Given the description of an element on the screen output the (x, y) to click on. 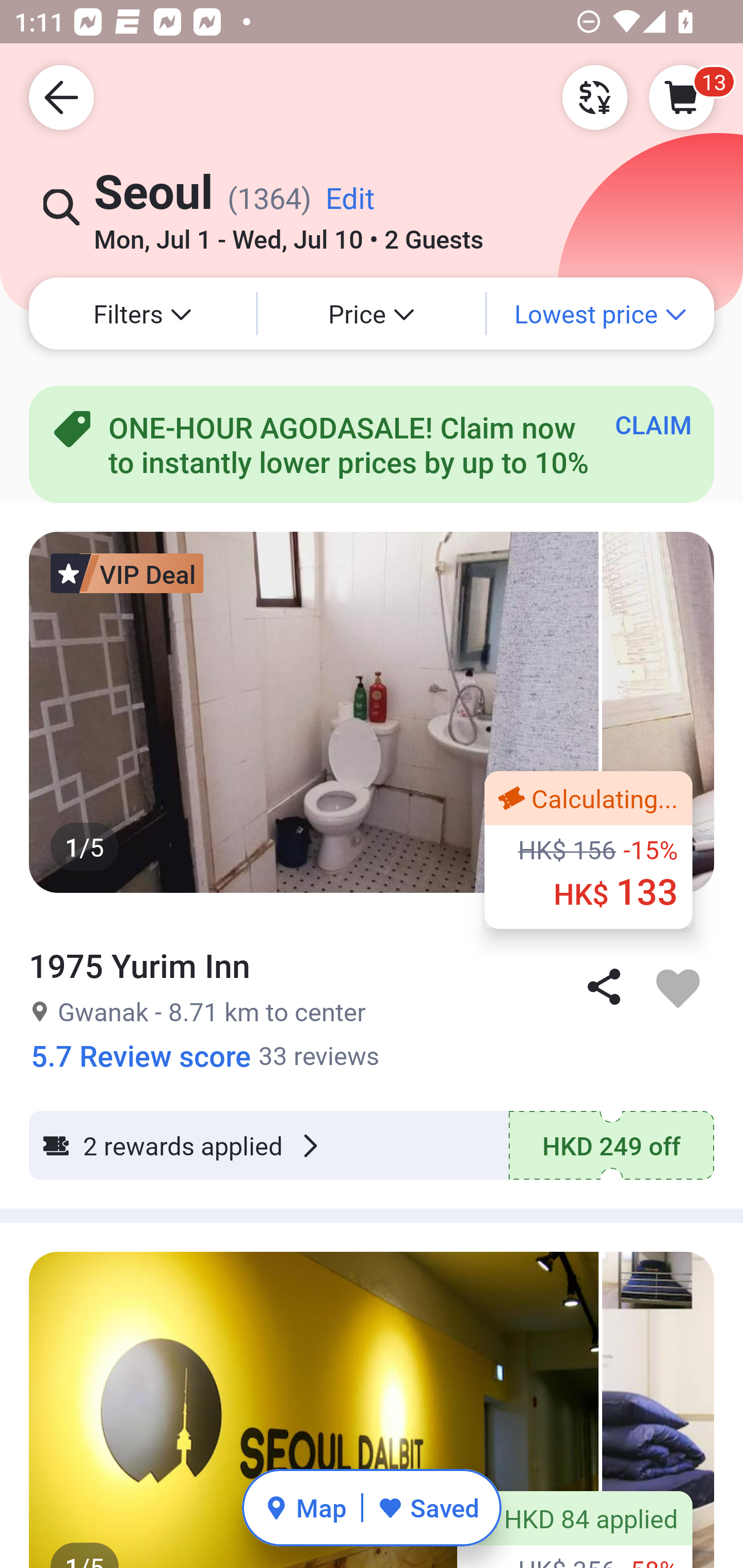
Mon, Jul 1 - Wed, Jul 10 • 2 Guests (288, 232)
Filters (141, 313)
Price (371, 313)
Lowest price (600, 313)
CLAIM (653, 424)
VIP Deal (126, 572)
1/5 (371, 711)
Calculating... ‪HK$ 156 -15% ‪HK$ 133 (588, 849)
2 rewards applied HKD 249 off (371, 1145)
1/5 (371, 1409)
Map (305, 1507)
Saved (428, 1507)
HKD 84 applied ‪HK$ 356 -58% (574, 1529)
